Given the description of an element on the screen output the (x, y) to click on. 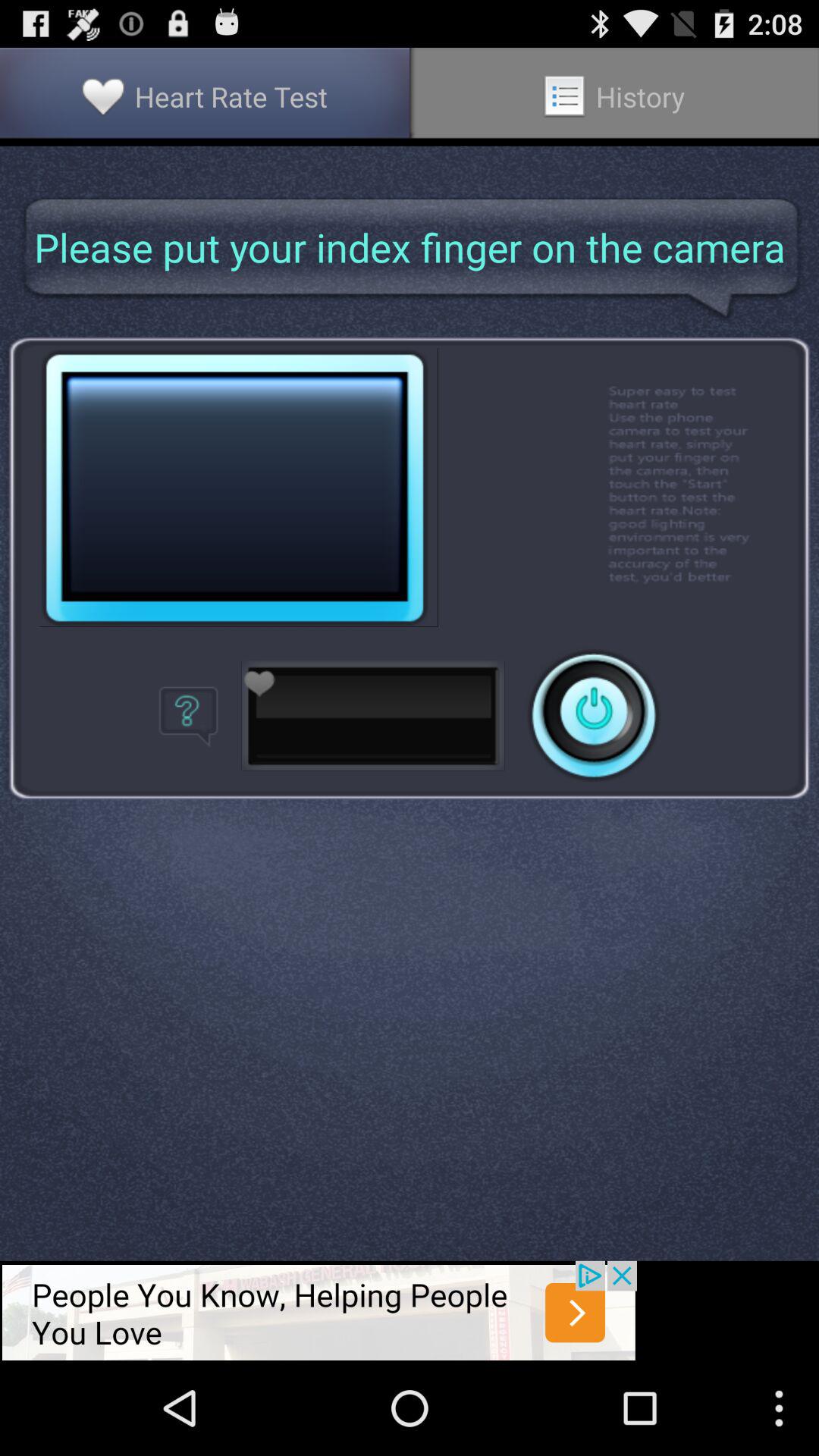
power button (593, 715)
